Given the description of an element on the screen output the (x, y) to click on. 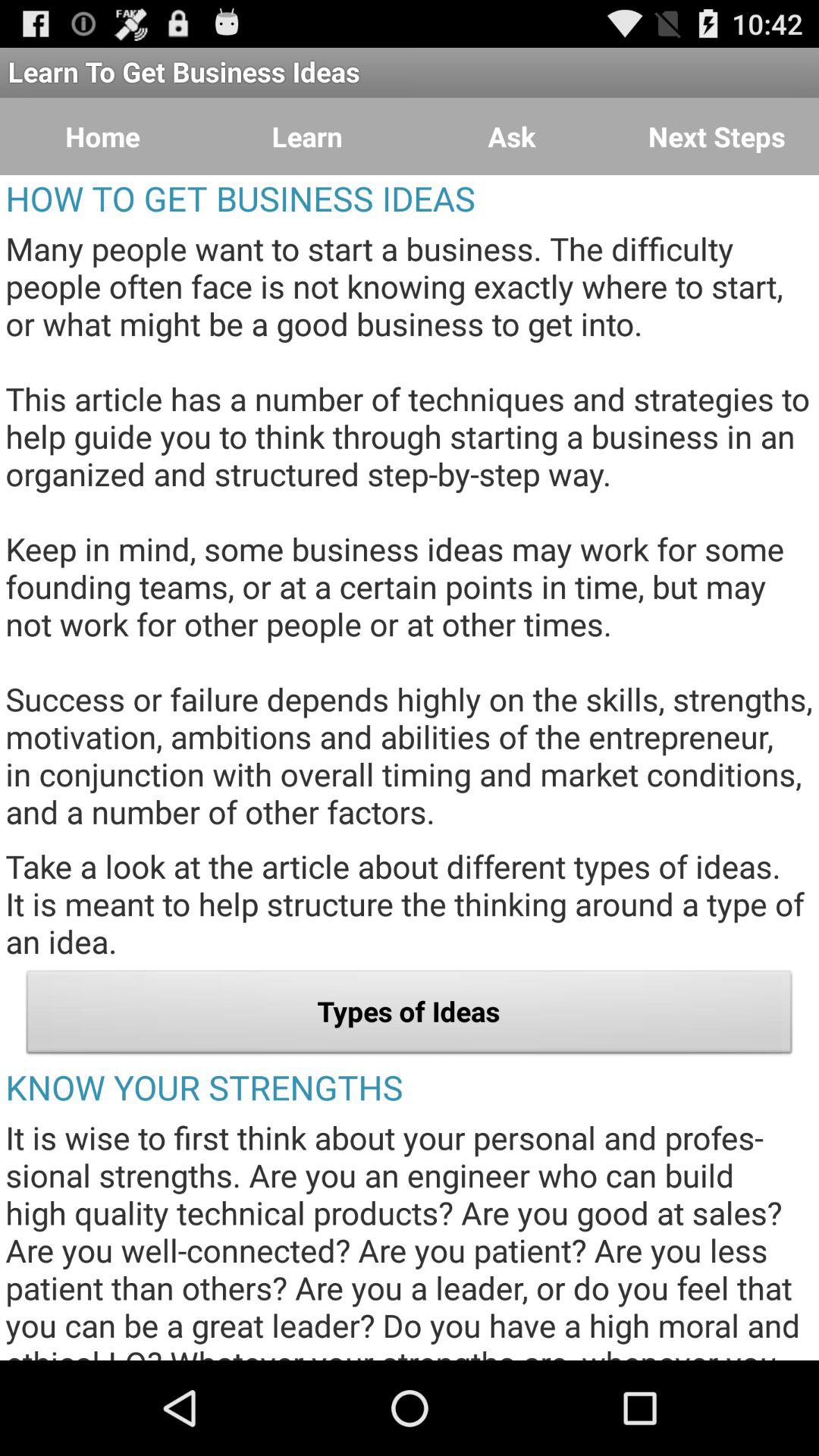
press the item next to the learn button (102, 136)
